Given the description of an element on the screen output the (x, y) to click on. 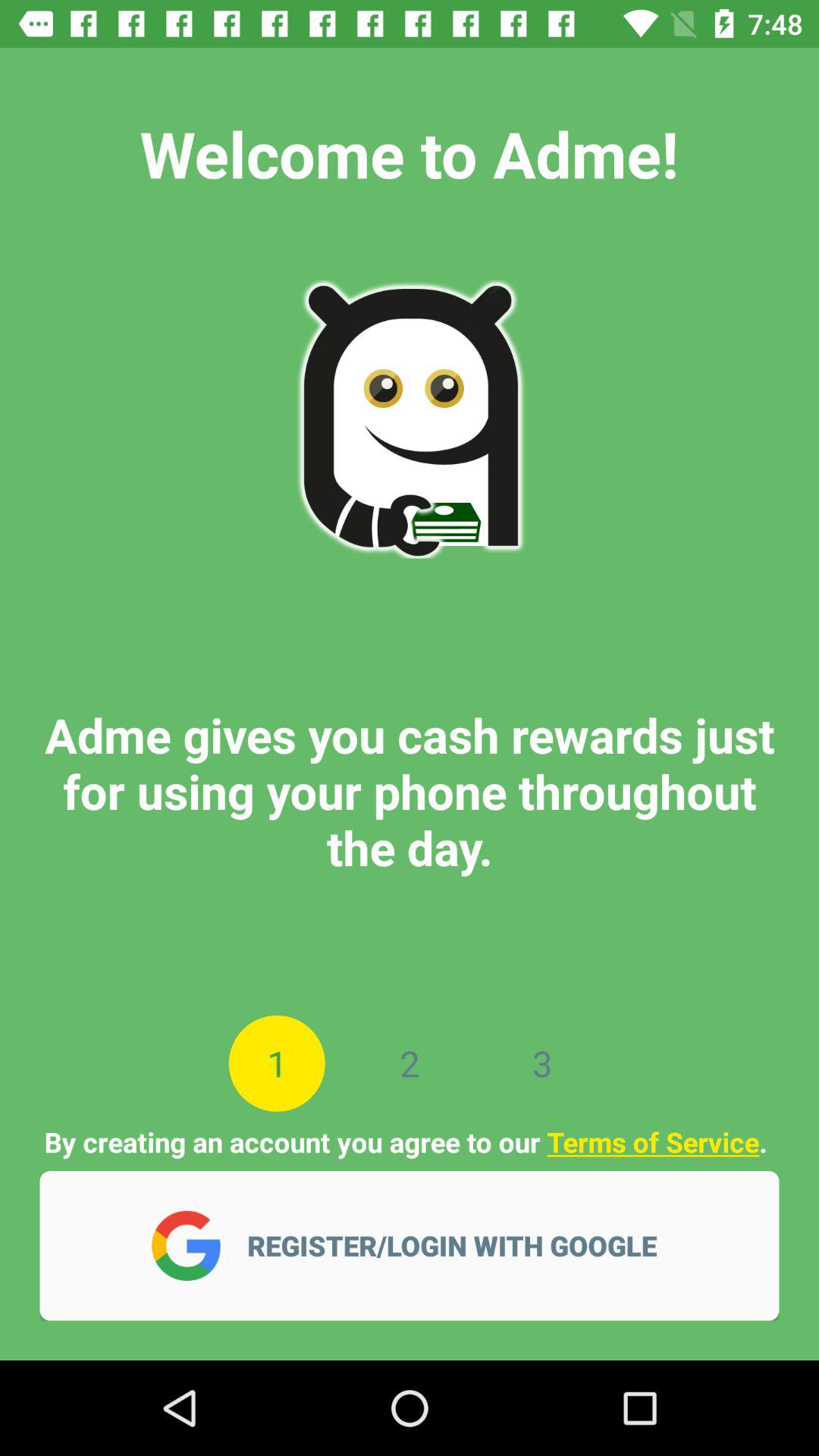
turn off the icon to the left of the 3 app (409, 1063)
